Given the description of an element on the screen output the (x, y) to click on. 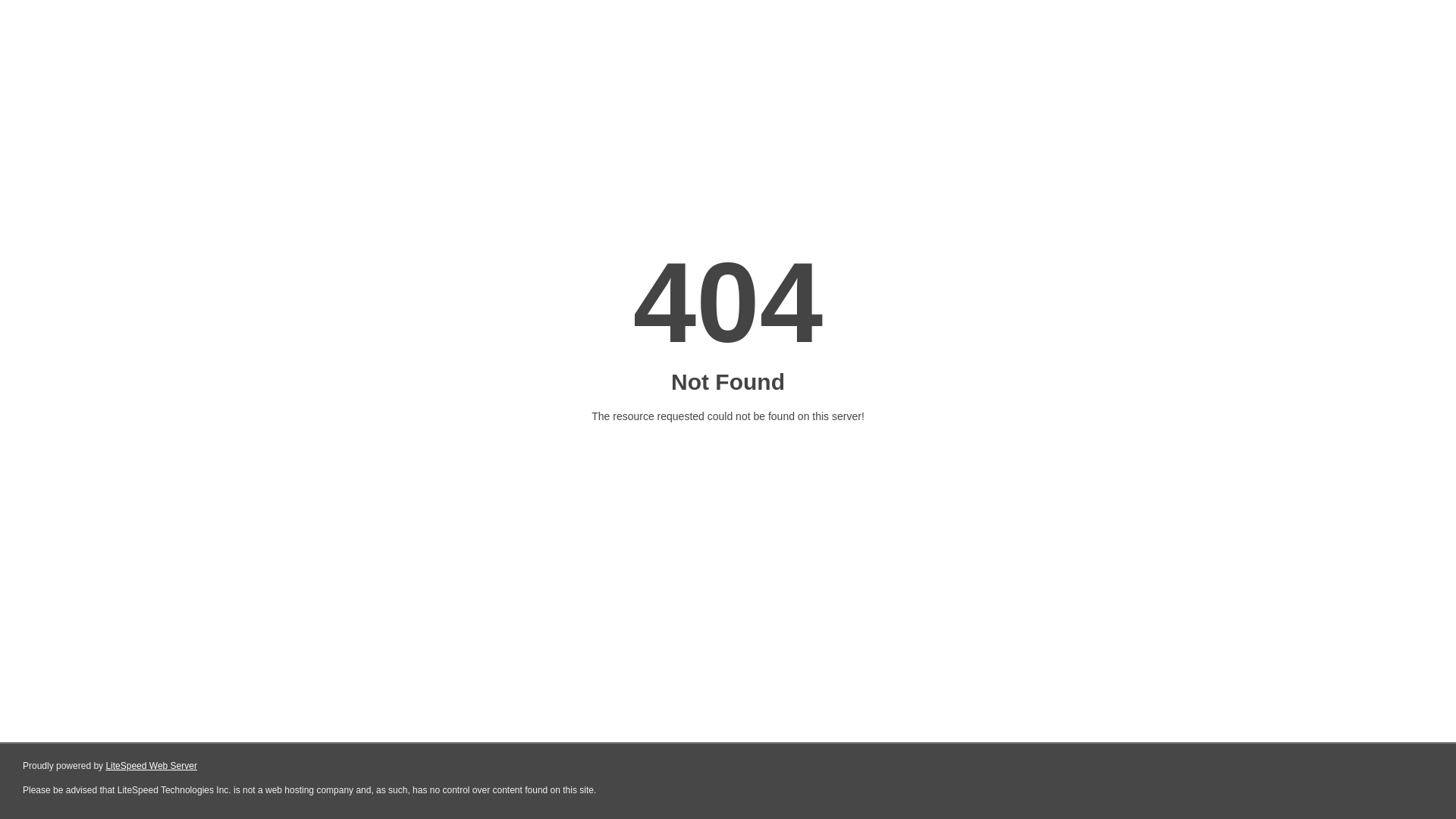
LiteSpeed Web Server Element type: text (151, 765)
